Given the description of an element on the screen output the (x, y) to click on. 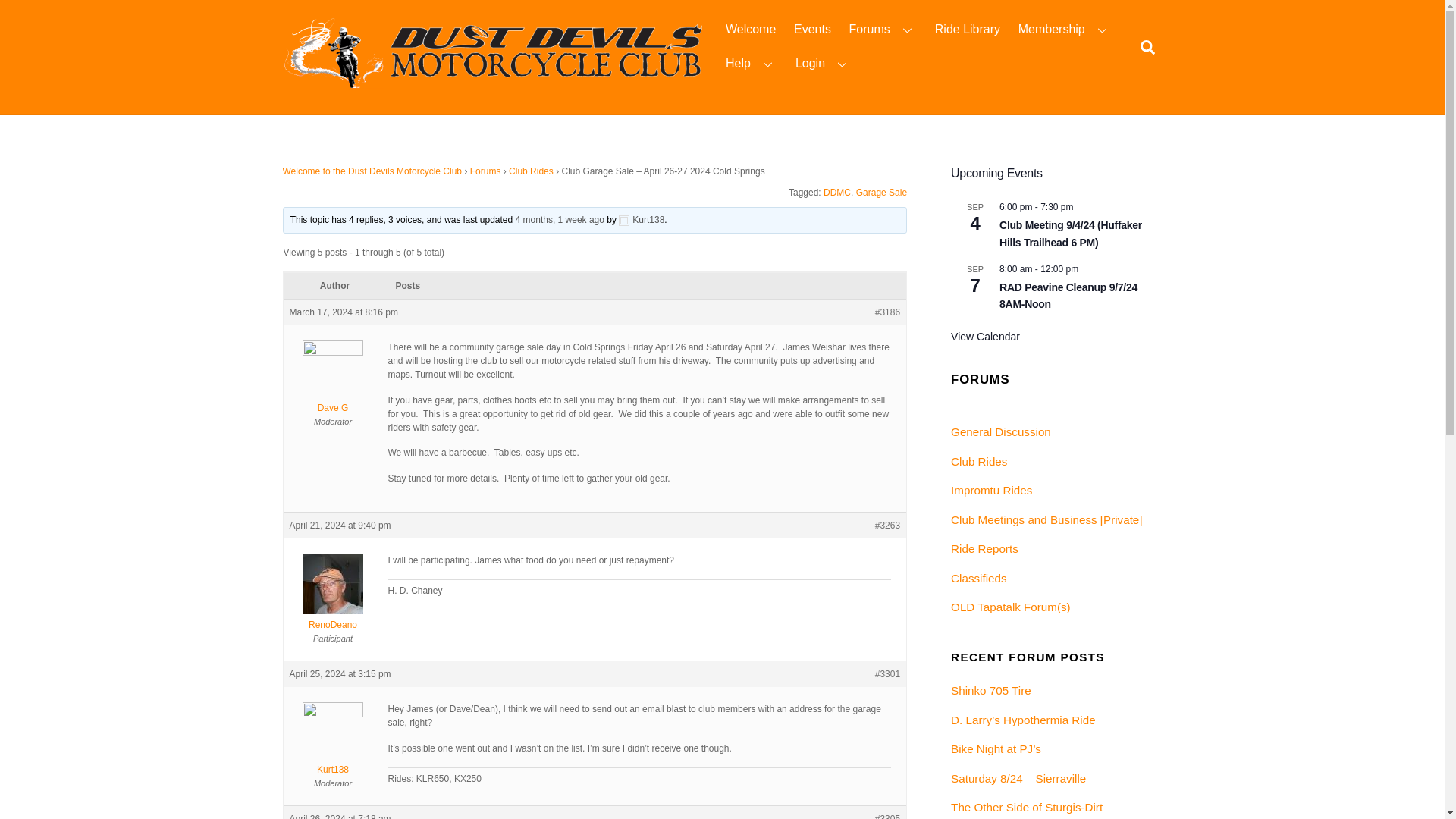
4 months, 1 week ago (559, 219)
View RenoDeano's profile (333, 618)
Forums (485, 171)
View more events. (985, 336)
DDMC (837, 192)
Welcome to the Dust Devils Motorcycle Club (371, 171)
View Kurt138's profile (640, 219)
Login (823, 63)
Help (750, 63)
Dust Devils Motorcycle Club (494, 84)
